Given the description of an element on the screen output the (x, y) to click on. 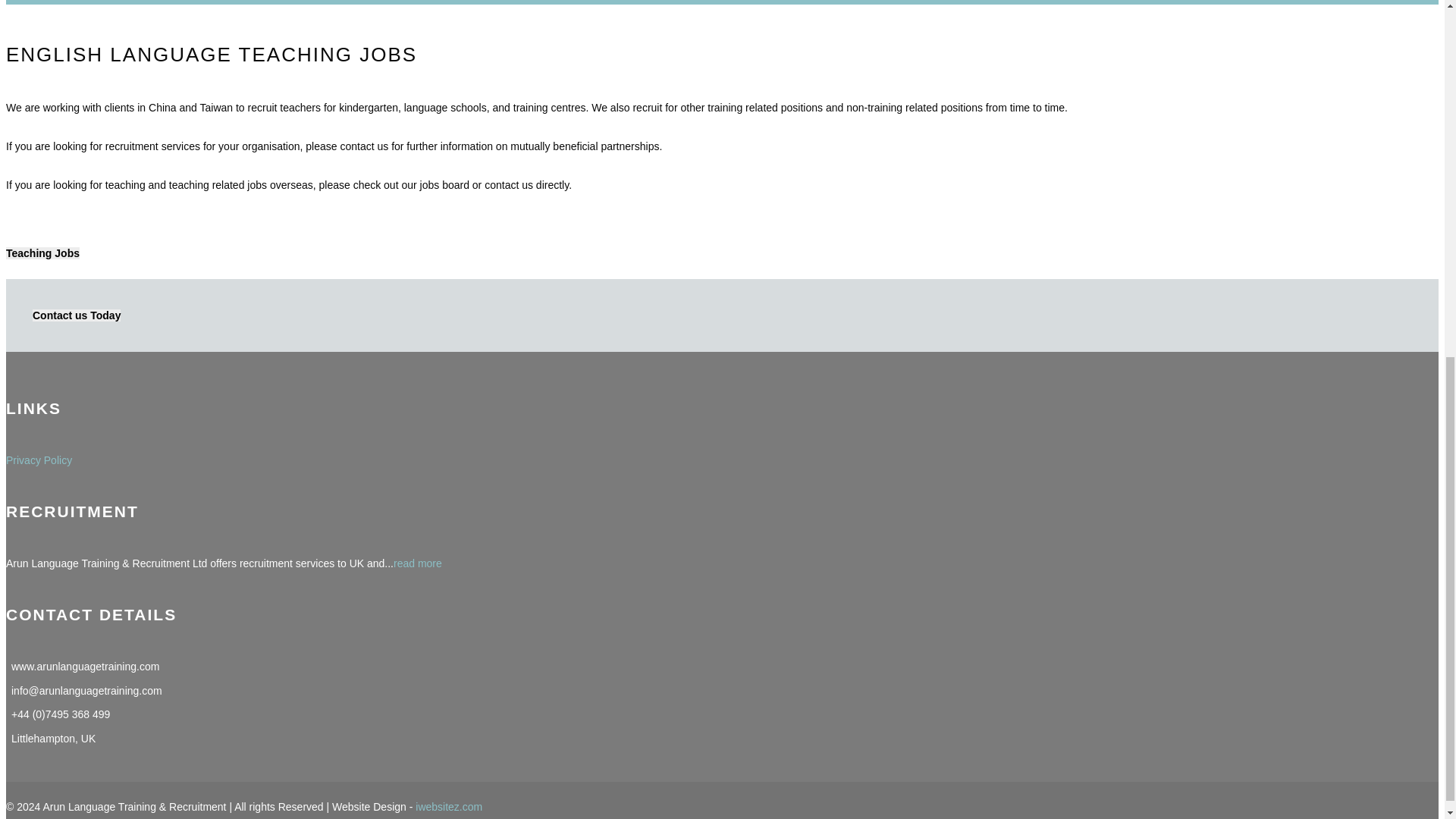
Teaching Jobs Around the World (42, 253)
www.arunlanguagetraining.com (84, 666)
read more (417, 563)
Contact ALT (76, 315)
Privacy Policy (38, 460)
Contact us Today (76, 315)
iwebsitez.com (447, 806)
www.arunlanguagetraining.com (84, 666)
Teaching Jobs (42, 253)
Recruitment Services (417, 563)
